Given the description of an element on the screen output the (x, y) to click on. 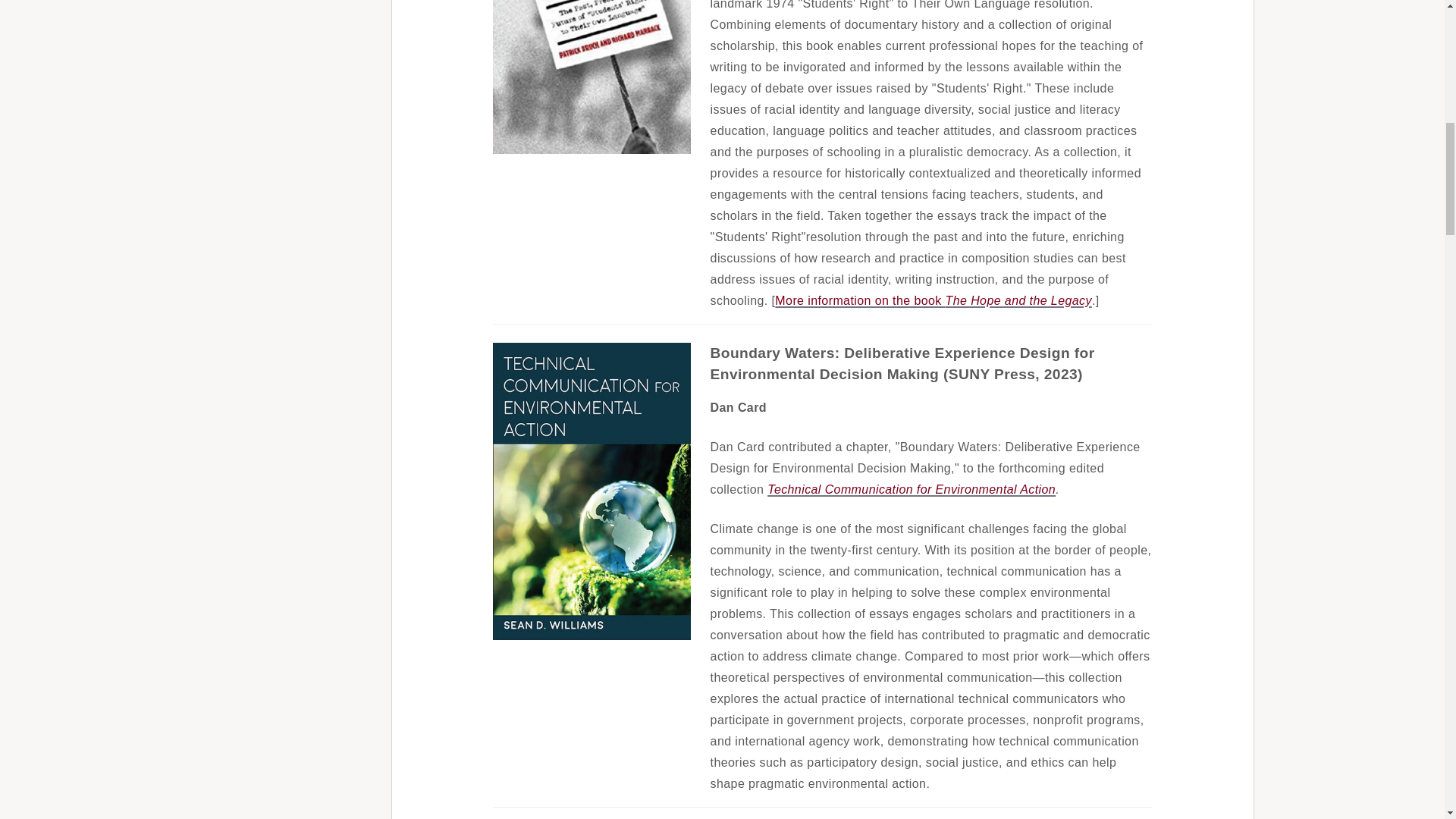
More information on the book The Hope and the Legacy (933, 300)
Technical Communication for Environmental Action (911, 489)
